Given the description of an element on the screen output the (x, y) to click on. 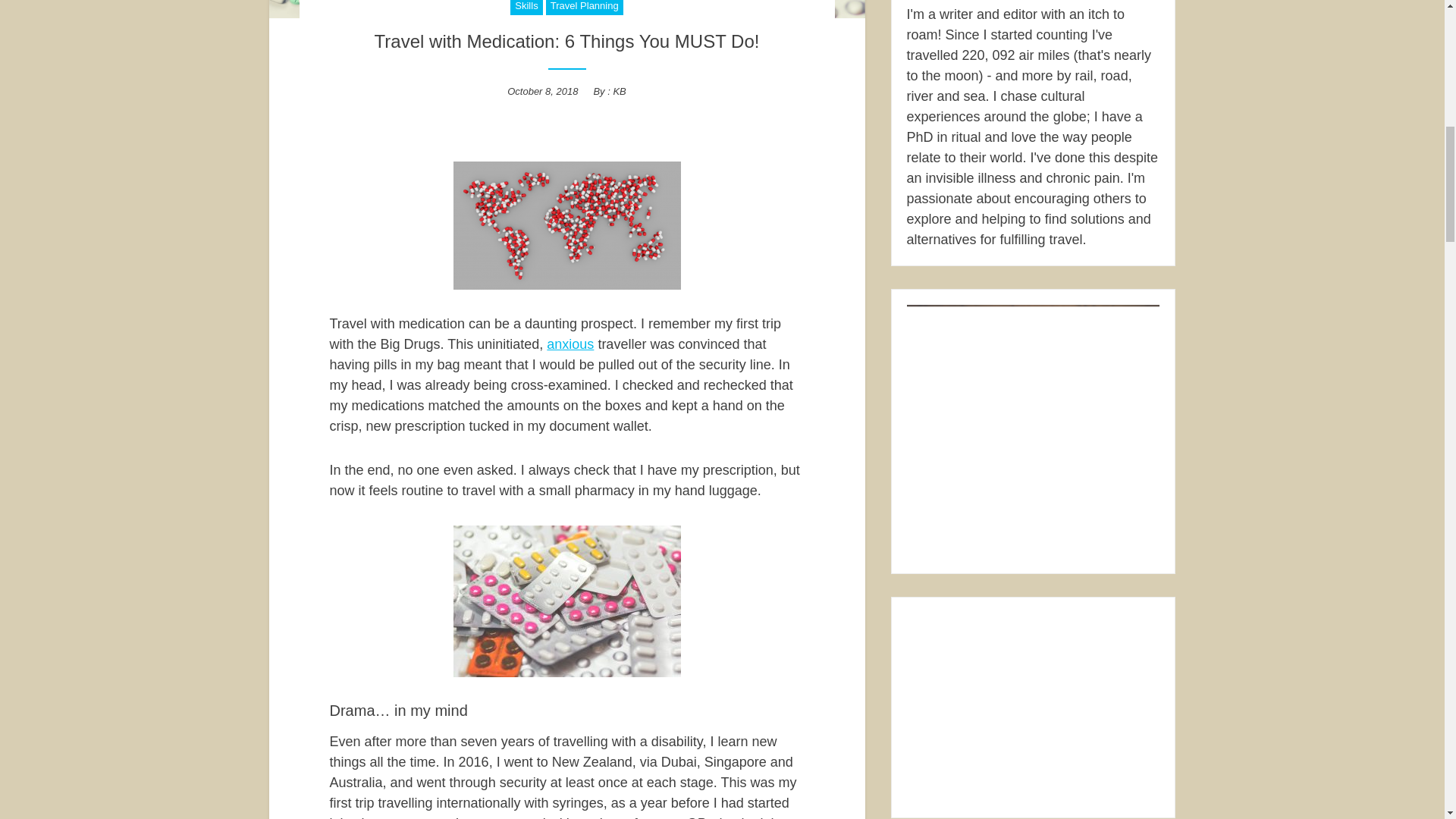
KB (619, 91)
anxious (570, 344)
Travel Planning (584, 7)
Skills (526, 7)
October 8, 2018 (542, 91)
